Given the description of an element on the screen output the (x, y) to click on. 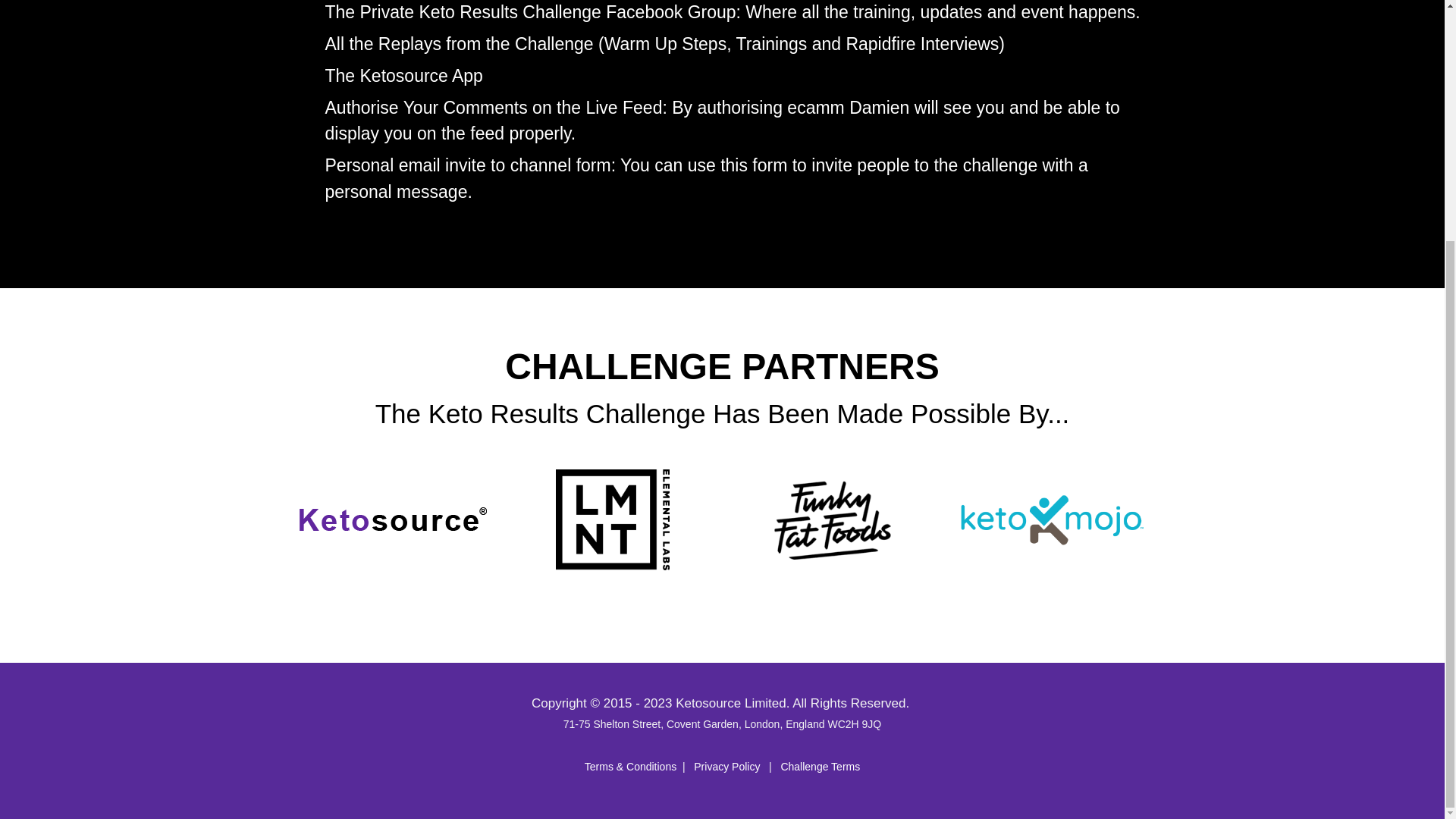
Challenge Terms (820, 766)
Privacy Policy (727, 766)
Funky-fat-foods (832, 519)
drink-lmnt (611, 519)
Ketosource-logo-web-v1-blackV2 (391, 519)
The Ketosource App (402, 75)
Keto-Mojo (1051, 520)
